Given the description of an element on the screen output the (x, y) to click on. 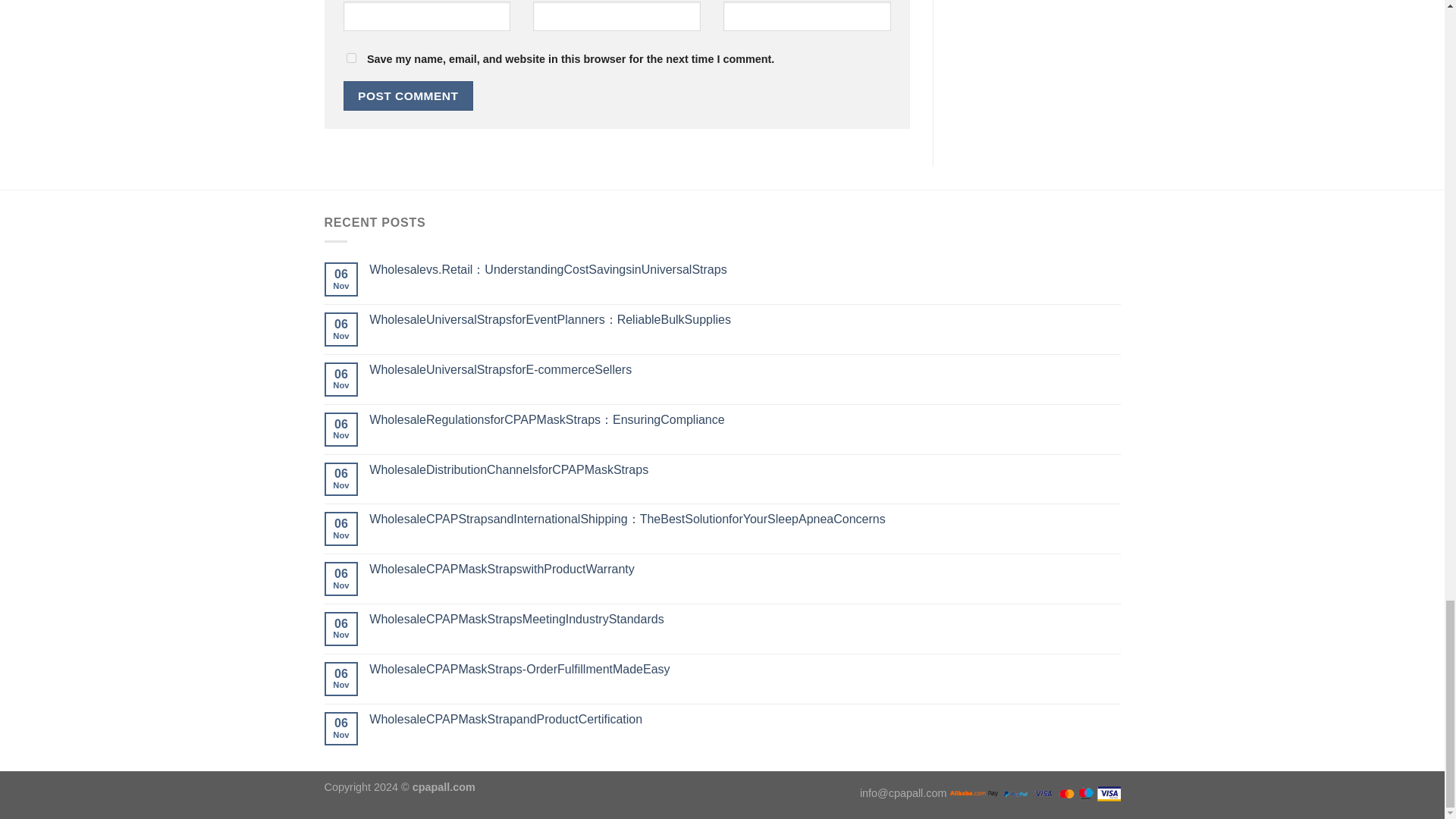
WholesaleUniversalStrapsforE-commerceSellers (744, 369)
WholesaleDistributionChannelsforCPAPMaskStraps (744, 469)
Post Comment (407, 95)
Post Comment (407, 95)
yes (350, 58)
